Given the description of an element on the screen output the (x, y) to click on. 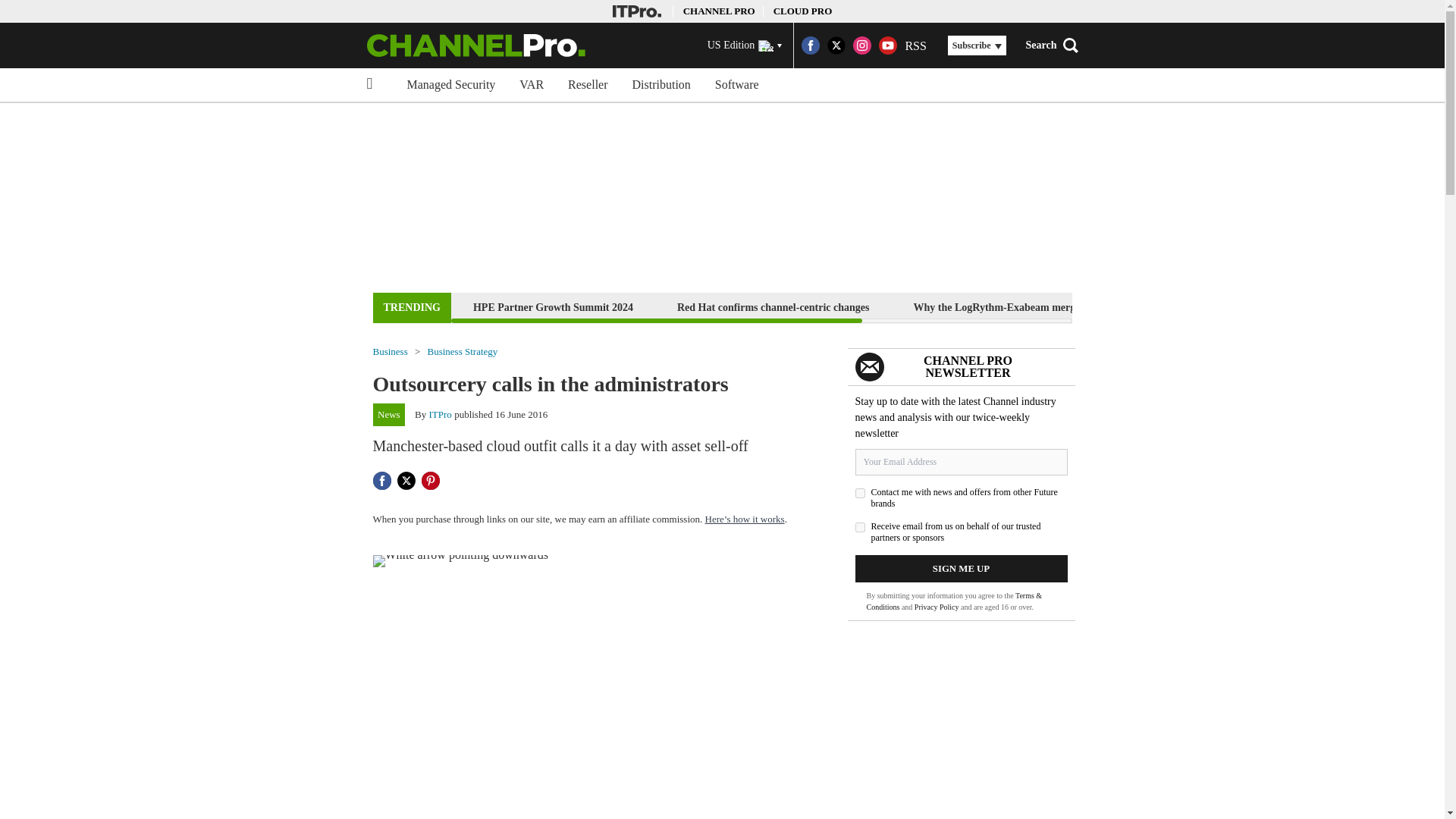
ITPro (440, 414)
Why the LogRythm-Exabeam merger makes sense (1028, 307)
CLOUD PRO (802, 10)
on (860, 492)
News (389, 414)
CHANNEL PRO (718, 10)
Red Hat confirms channel-centric changes (773, 307)
Distribution (661, 84)
Business (389, 350)
US Edition (745, 45)
